Given the description of an element on the screen output the (x, y) to click on. 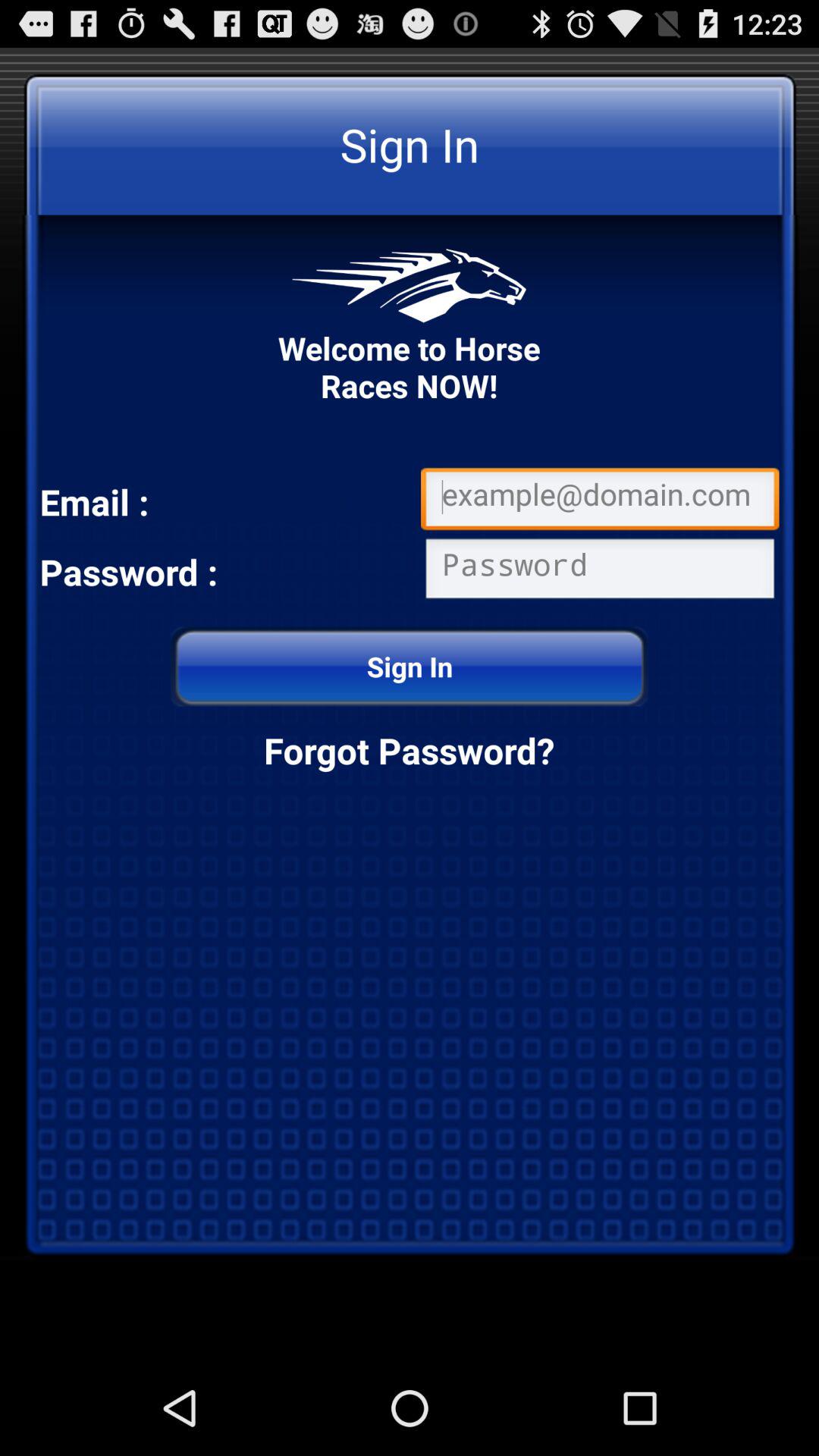
password text box (599, 571)
